Given the description of an element on the screen output the (x, y) to click on. 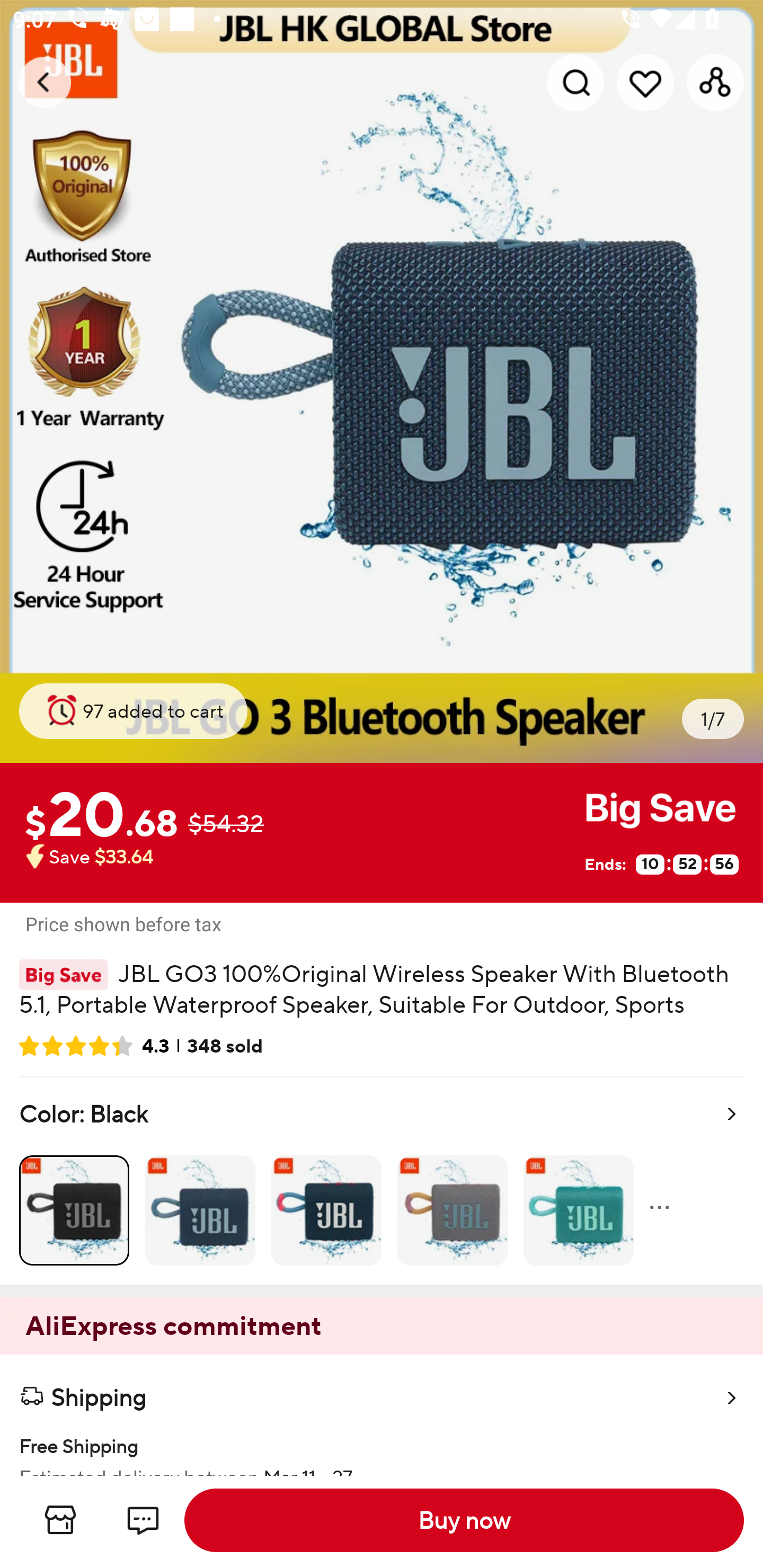
Navigate up (44, 82)
Color: Black  (381, 1180)
Buy now (463, 1520)
